Given the description of an element on the screen output the (x, y) to click on. 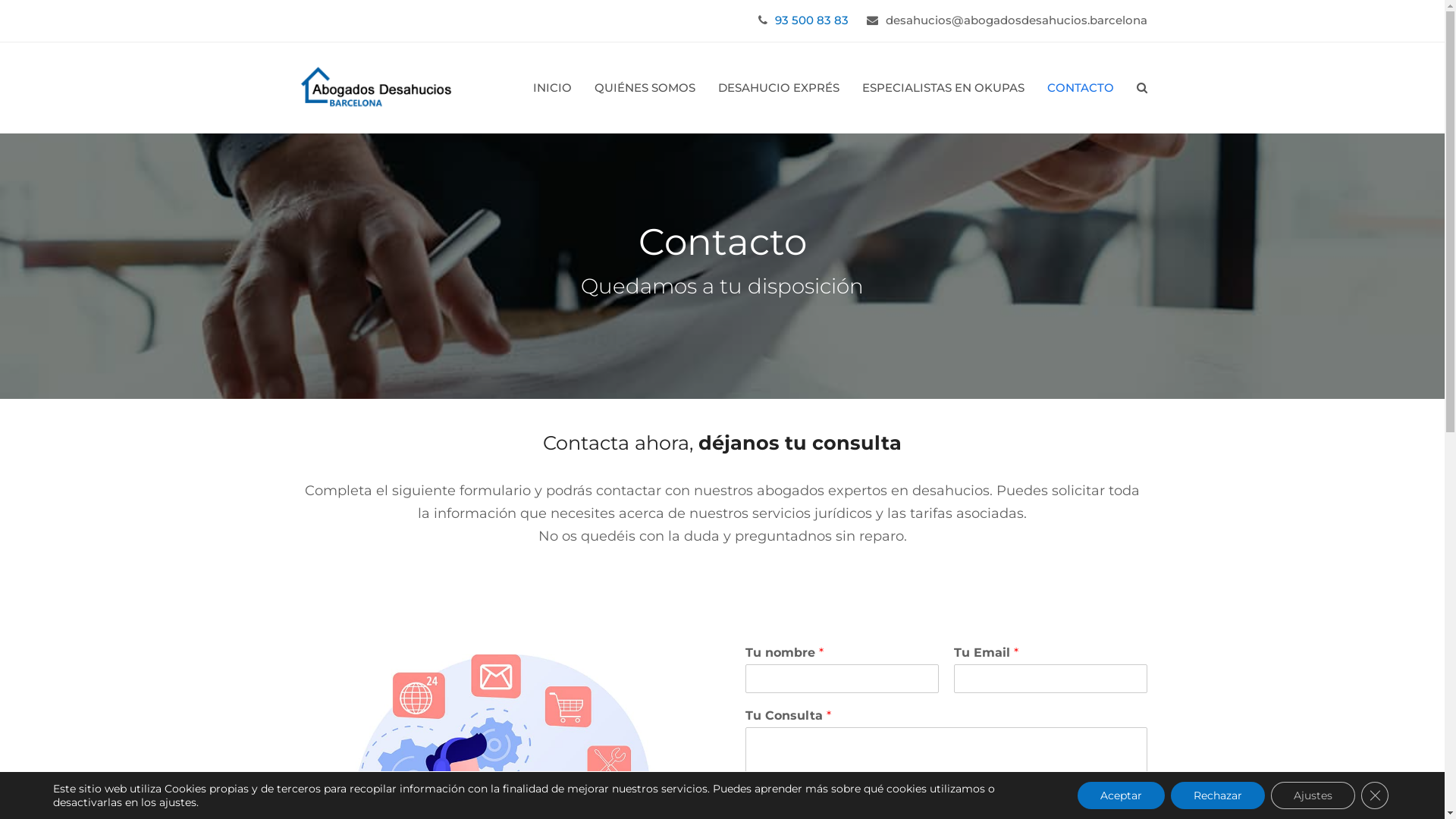
93 500 83 83 Element type: text (811, 19)
CONTACTO Element type: text (1080, 87)
Rechazar Element type: text (1217, 795)
INICIO Element type: text (552, 87)
ajustes Element type: text (177, 802)
ESPECIALISTAS EN OKUPAS Element type: text (942, 87)
Cerrar el banner de cookies RGPD Element type: text (1374, 795)
Ajustes Element type: text (1312, 795)
Aceptar Element type: text (1120, 795)
